Given the description of an element on the screen output the (x, y) to click on. 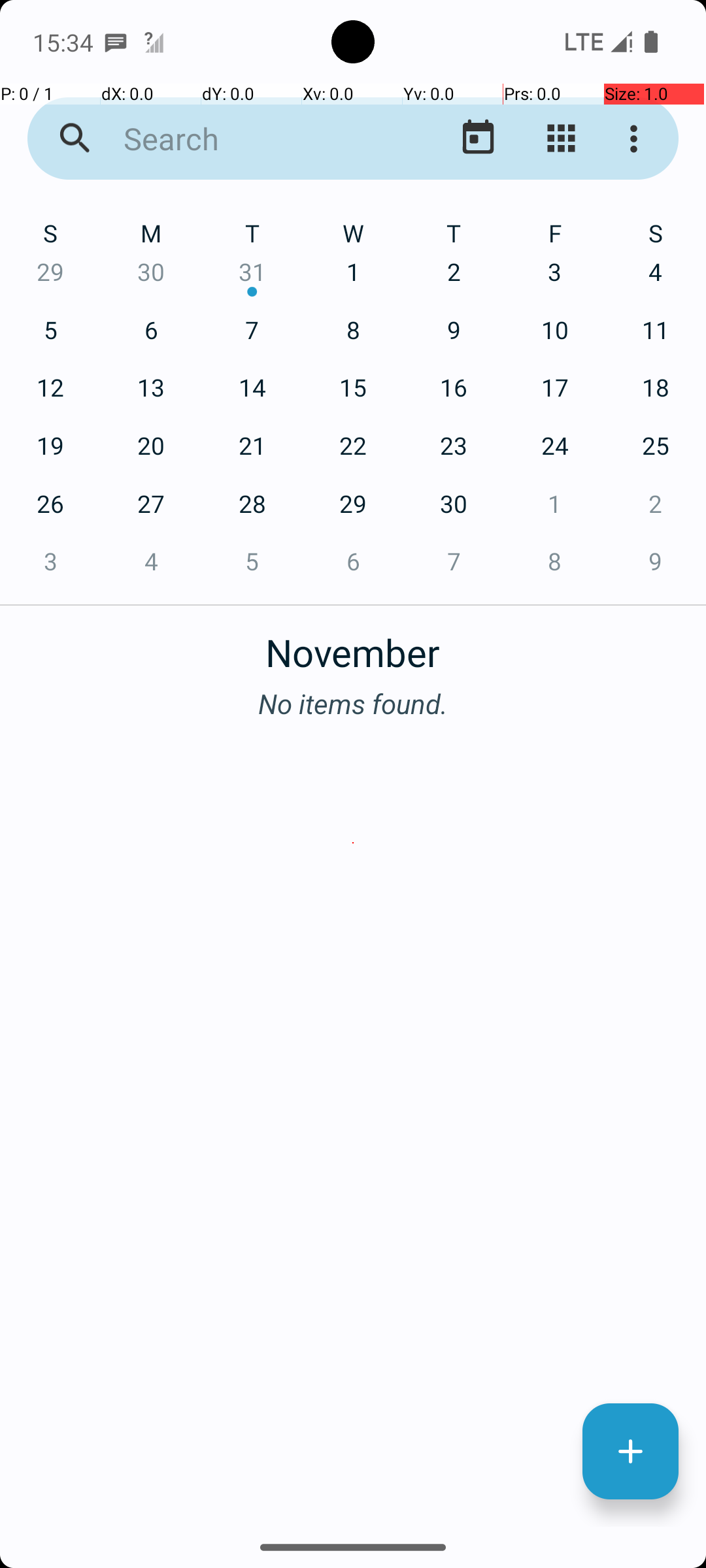
November Element type: android.widget.TextView (352, 644)
